Given the description of an element on the screen output the (x, y) to click on. 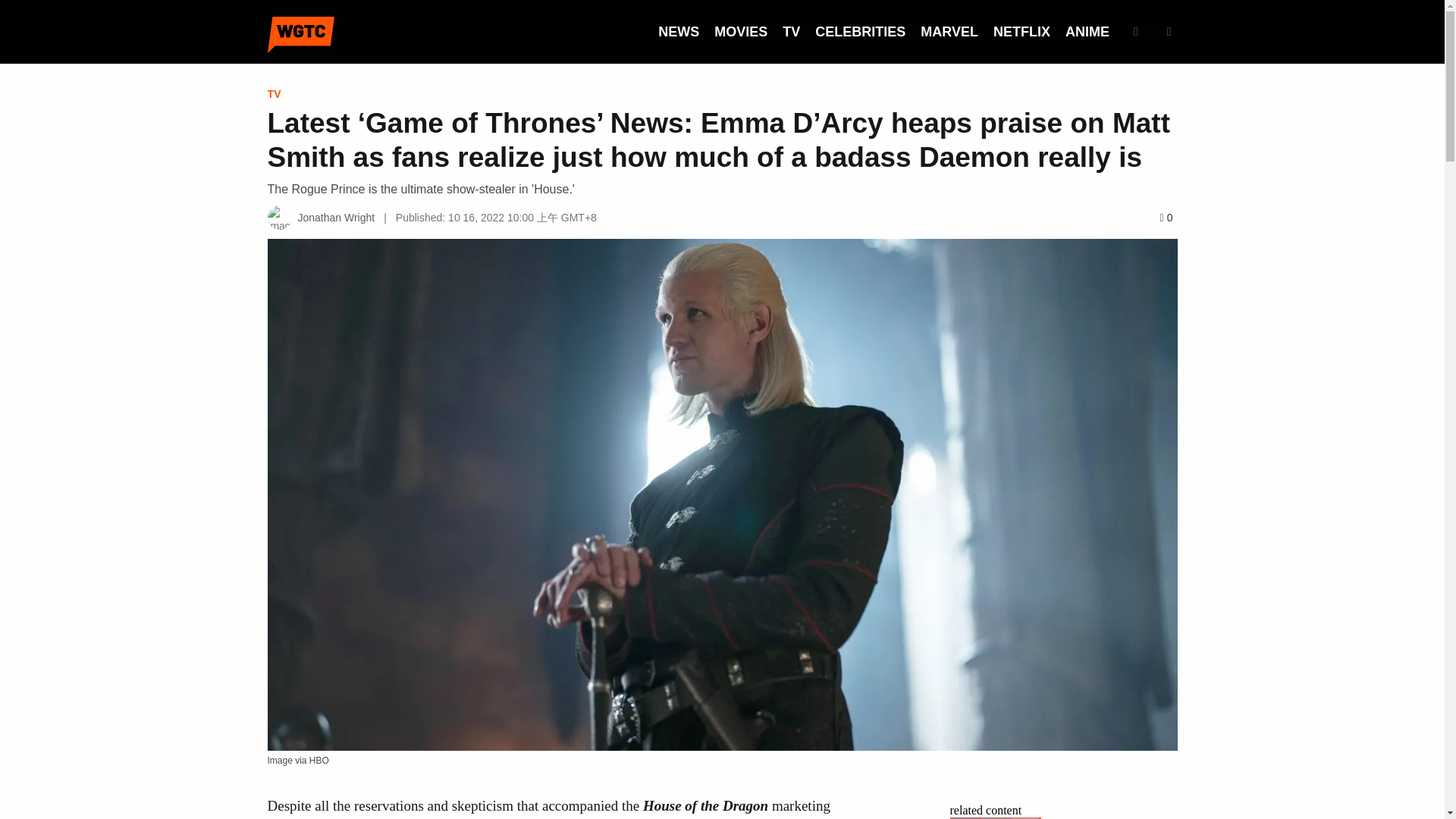
NETFLIX (1020, 31)
NEWS (678, 31)
MARVEL (949, 31)
TV (791, 31)
CELEBRITIES (860, 31)
ANIME (1087, 31)
MOVIES (740, 31)
